Given the description of an element on the screen output the (x, y) to click on. 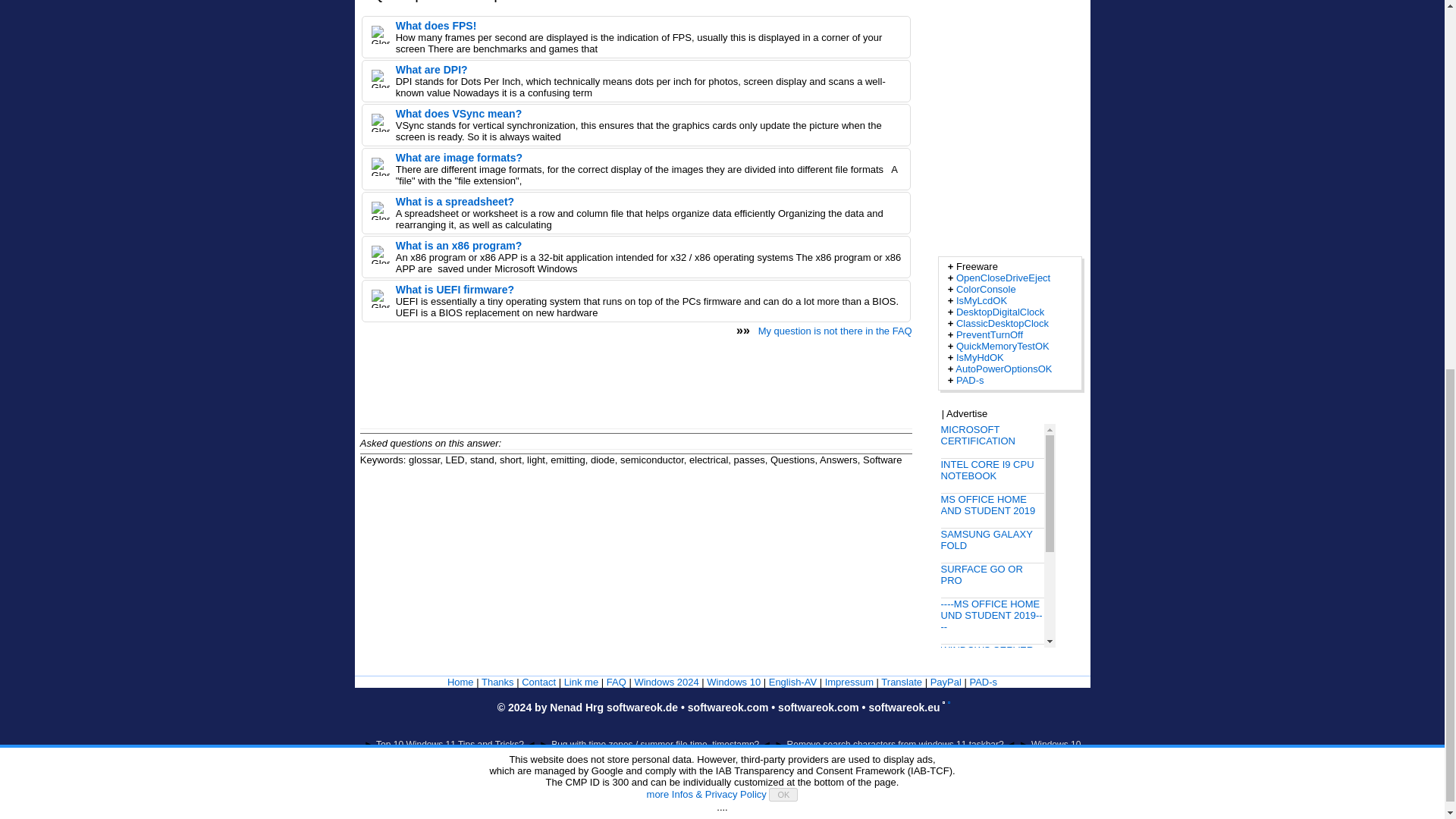
 OK  (782, 115)
My question is not there in the FAQ (835, 330)
Tips for Windows 10 (733, 681)
What is a spreadsheet? (454, 201)
What are image formats? (459, 157)
What are DPI? (431, 69)
Asked questions on this answer: (429, 442)
What does FPS! (436, 25)
Tips for Windows 11 (665, 681)
What is UEFI firmware? (454, 289)
